Given the description of an element on the screen output the (x, y) to click on. 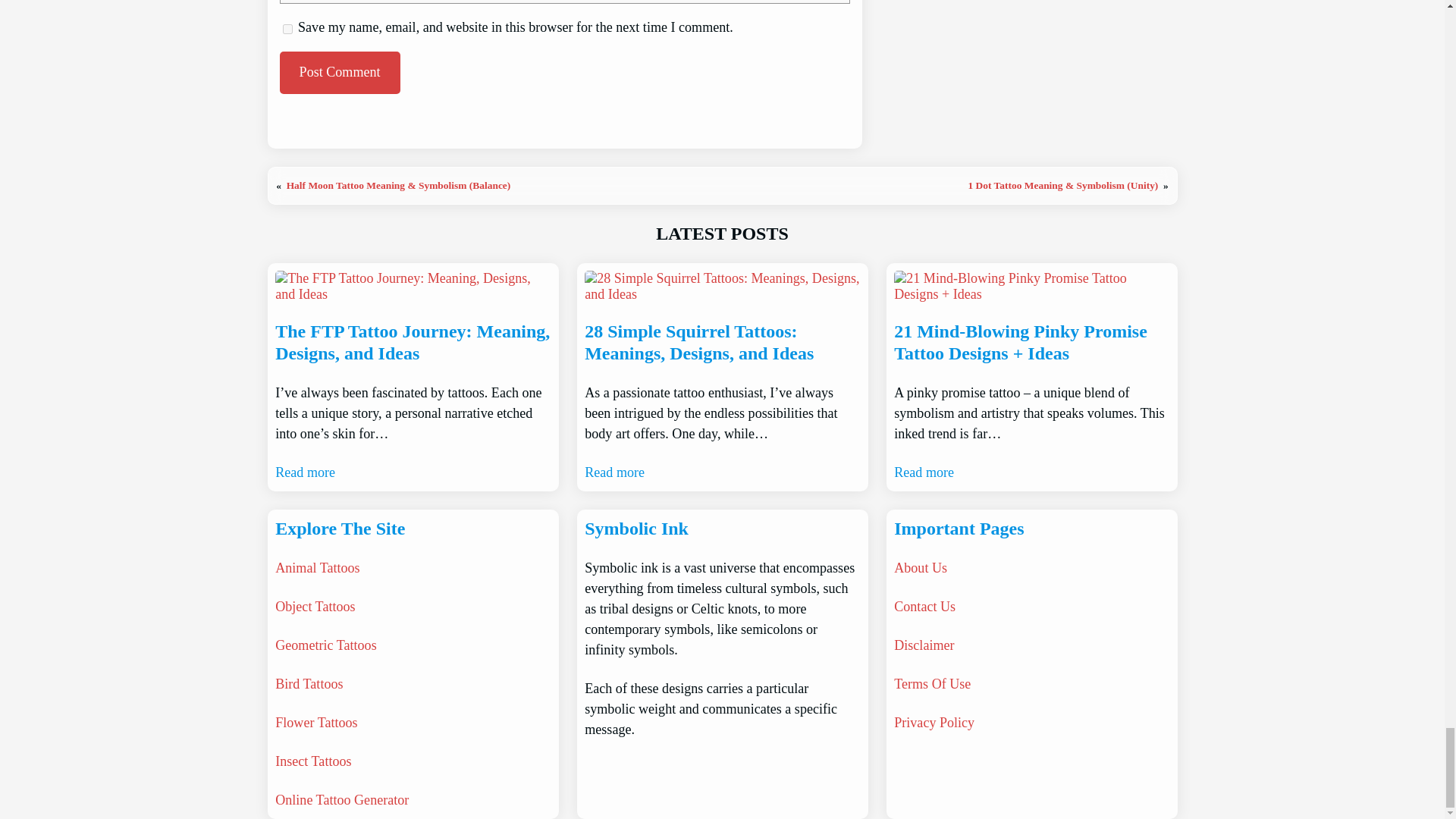
Post Comment (338, 72)
Post Comment (338, 72)
